Given the description of an element on the screen output the (x, y) to click on. 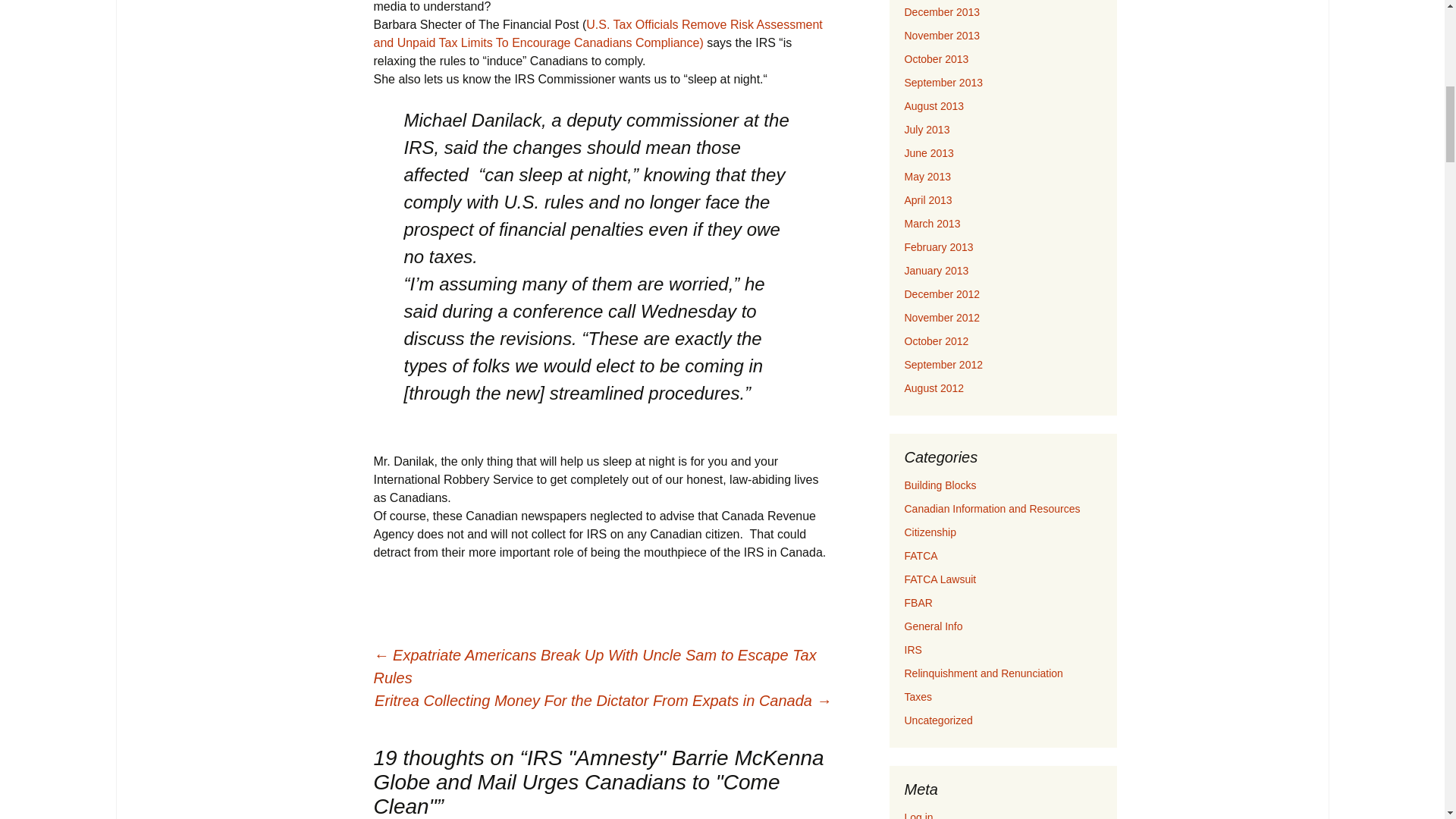
US Eases Risk Assessment (597, 33)
